Given the description of an element on the screen output the (x, y) to click on. 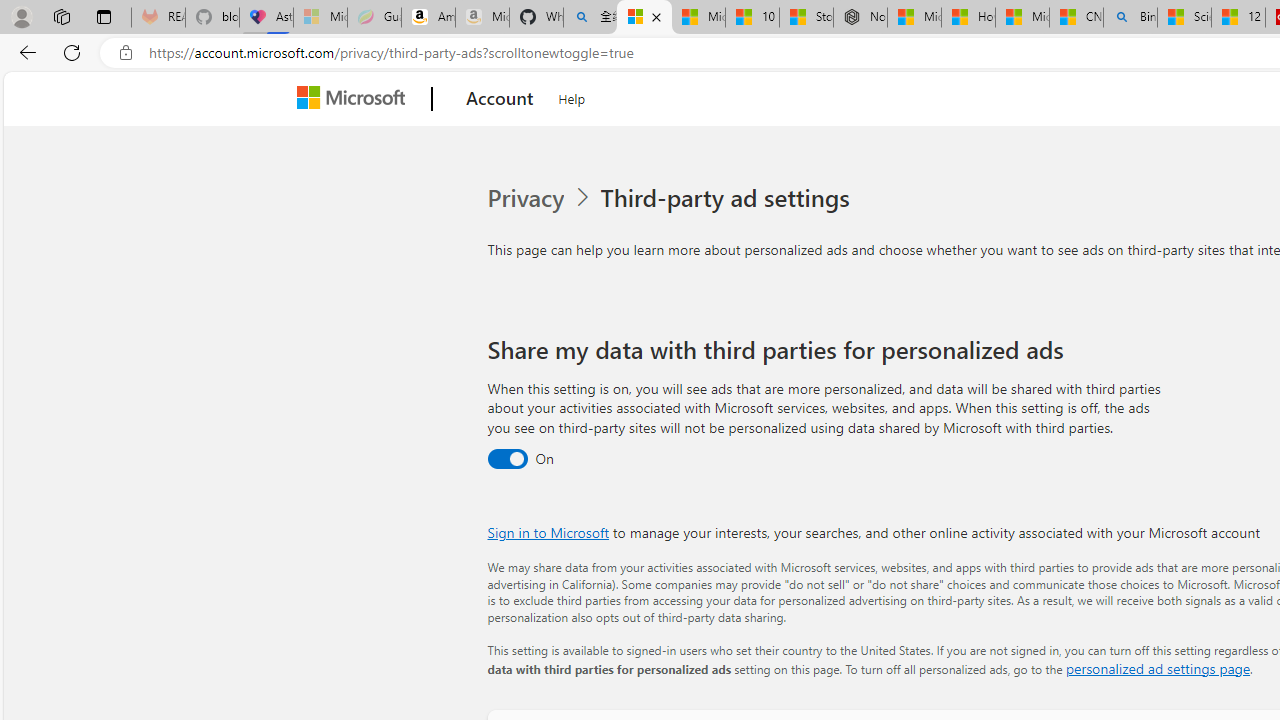
Microsoft Start (1022, 17)
Bing (1130, 17)
Refresh (72, 52)
Privacy (527, 197)
Help (572, 96)
Third party data sharing toggle (506, 459)
Account (499, 99)
Close tab (656, 16)
View site information (125, 53)
Personal Profile (21, 16)
Nordace - Nordace Siena Is Not An Ordinary Backpack (860, 17)
